Given the description of an element on the screen output the (x, y) to click on. 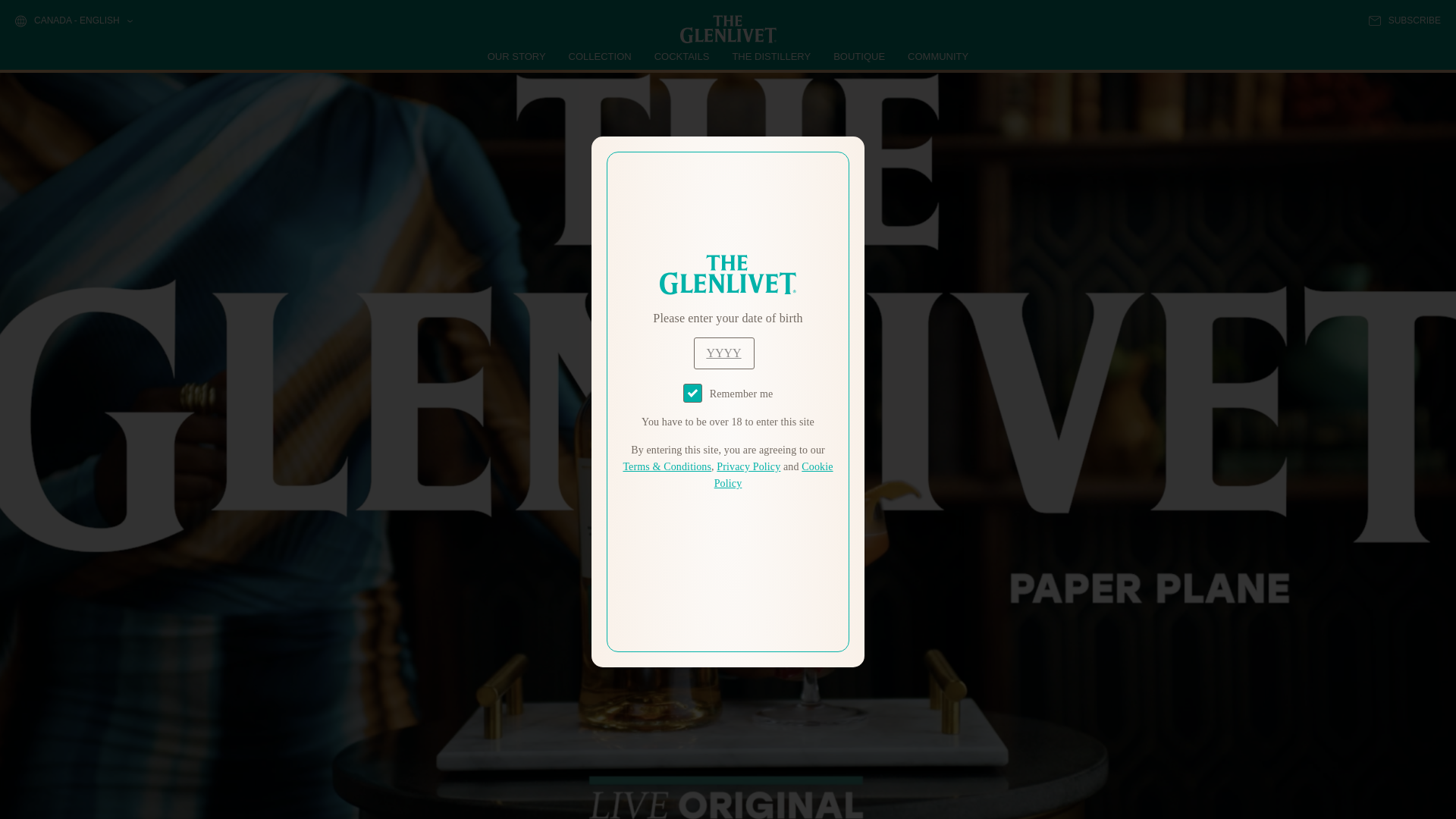
OUR STORY (516, 56)
THE DISTILLERY (771, 56)
BOUTIQUE (858, 56)
COCKTAILS (681, 56)
SUBSCRIBE (1404, 20)
CANADA - ENGLISH (73, 21)
year (723, 353)
Privacy Policy (748, 466)
Cookie Policy (773, 474)
COLLECTION (600, 56)
